Given the description of an element on the screen output the (x, y) to click on. 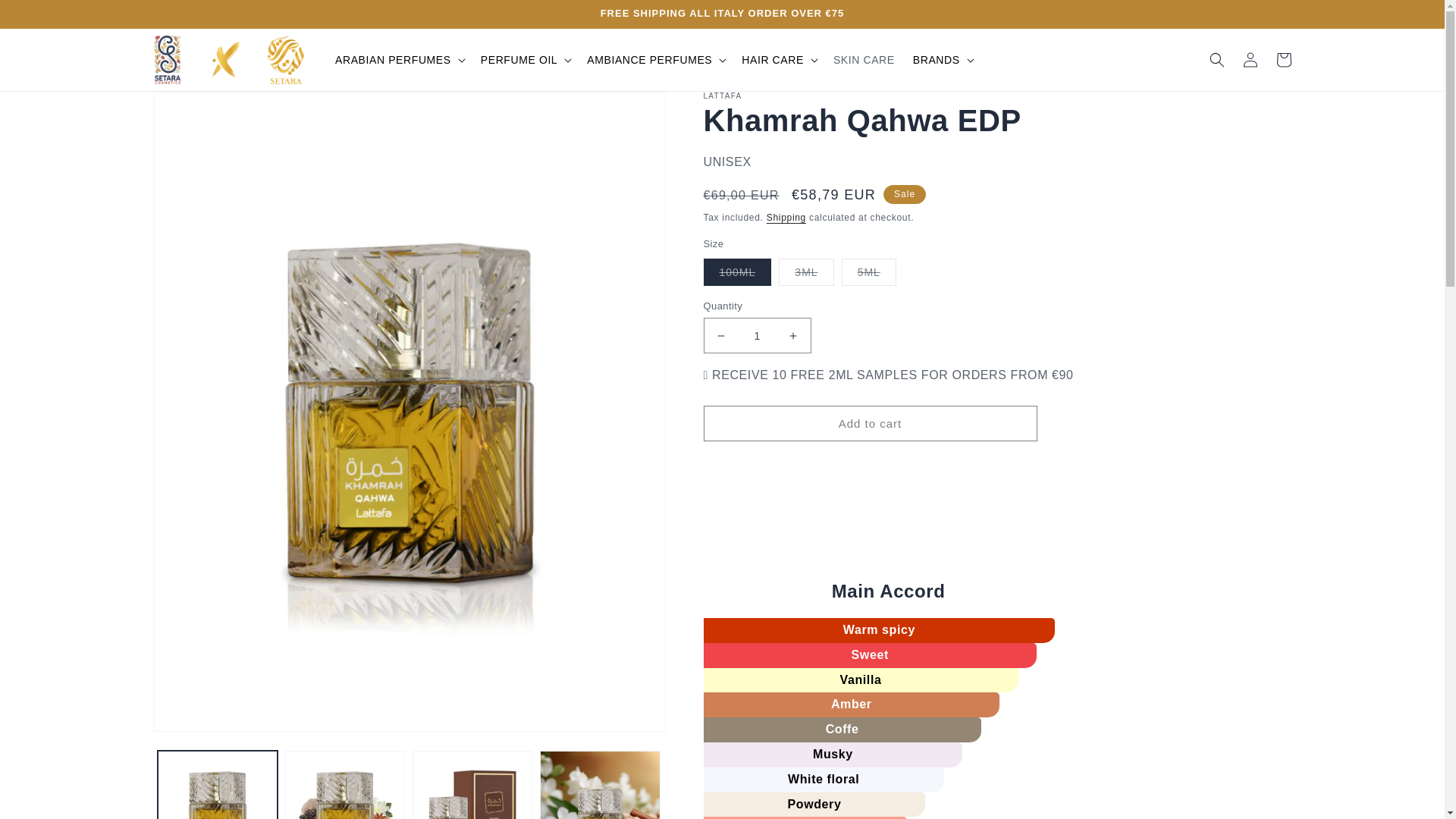
1 (757, 334)
AMBIANCE PERFUMES (648, 60)
ARABIAN PERFUMES (392, 60)
HAIR CARE (772, 60)
Skip to content (45, 17)
SKIN CARE (864, 60)
PERFUME OIL (518, 60)
